Given the description of an element on the screen output the (x, y) to click on. 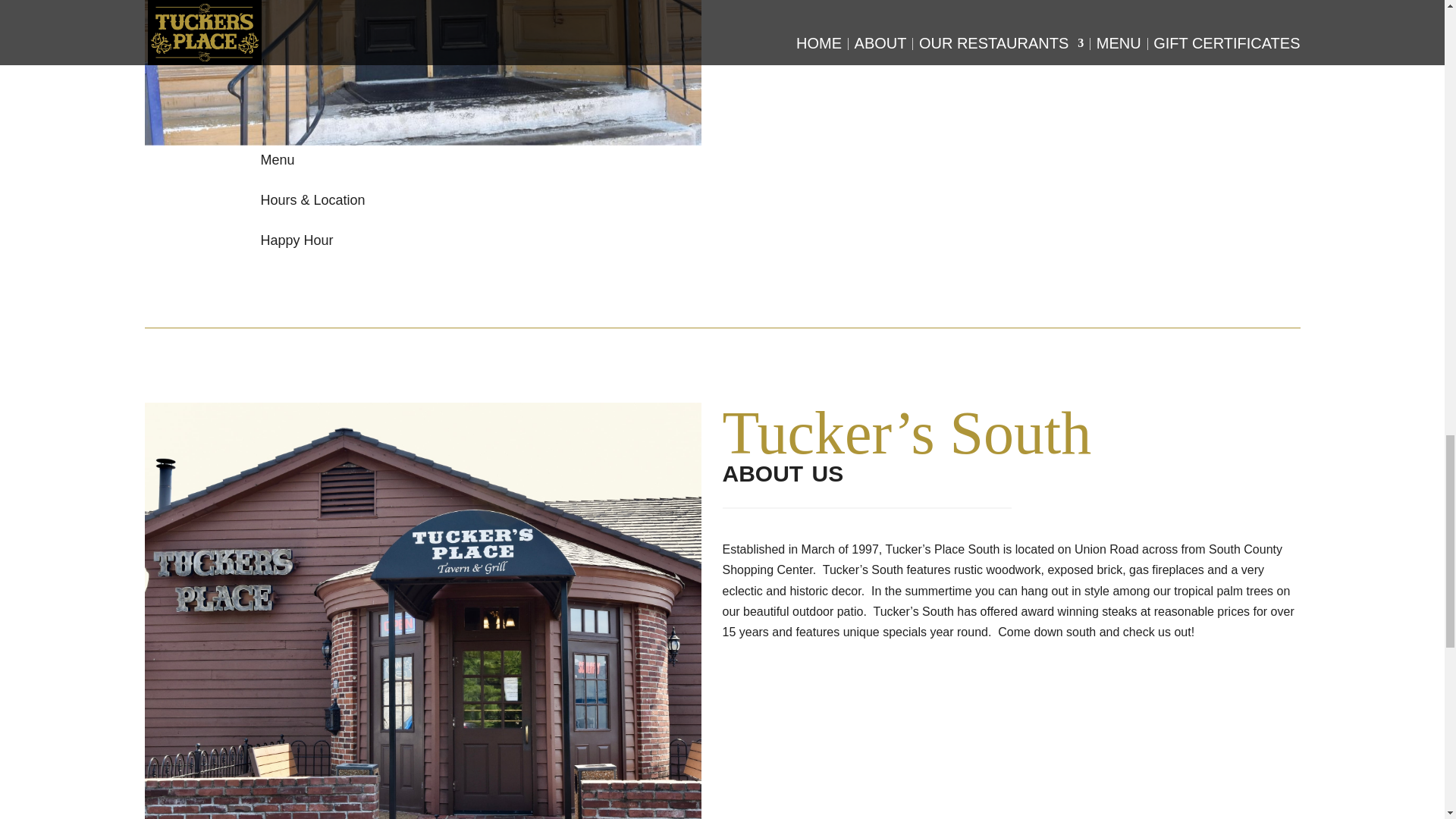
Happy Hour (296, 240)
TuckersSoulard (422, 72)
Menu (277, 159)
